Given the description of an element on the screen output the (x, y) to click on. 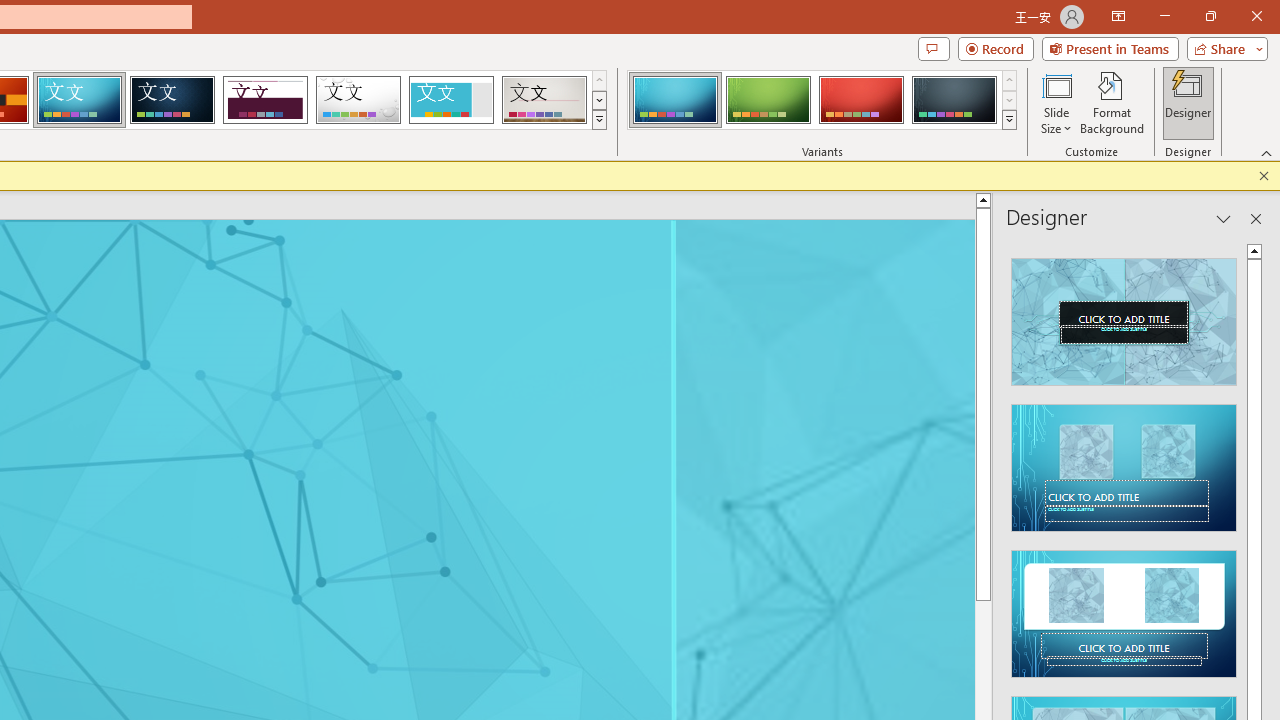
Gallery (544, 100)
Recommended Design: Design Idea (1124, 315)
